Given the description of an element on the screen output the (x, y) to click on. 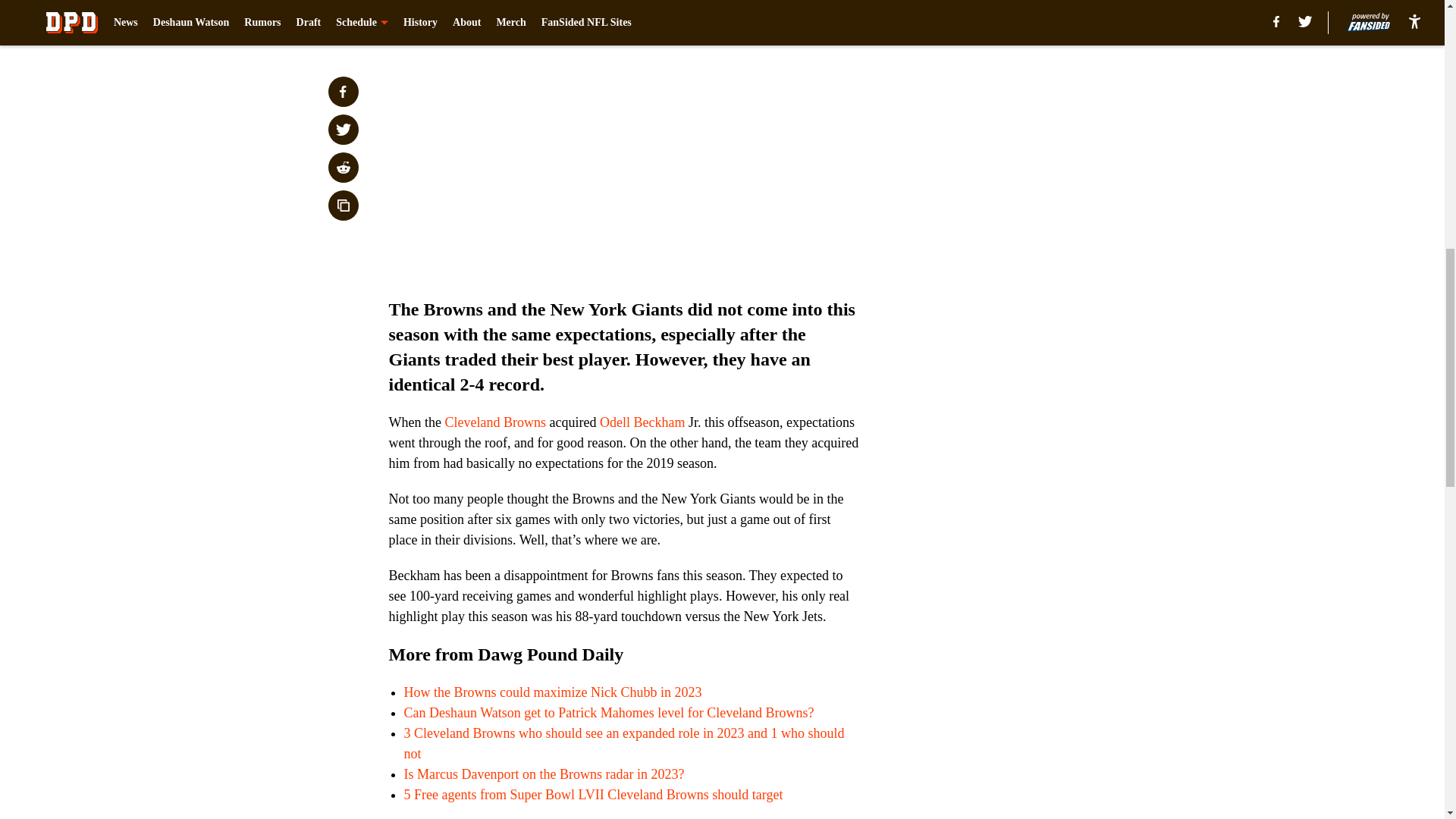
Cleveland Browns (494, 421)
Is Marcus Davenport on the Browns radar in 2023? (543, 774)
Odell Beckham (641, 421)
How the Browns could maximize Nick Chubb in 2023 (552, 692)
